Given the description of an element on the screen output the (x, y) to click on. 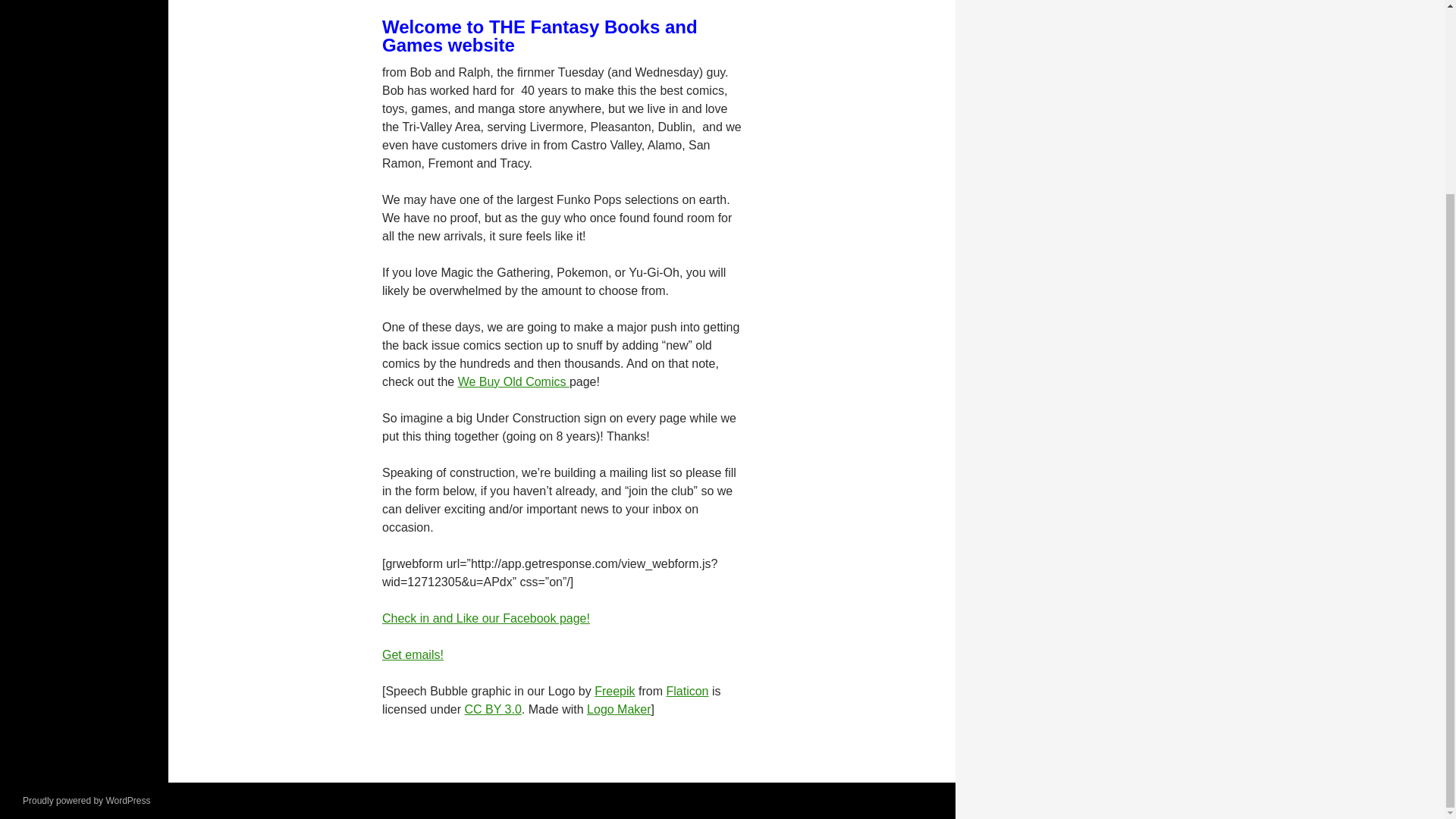
Creative Commons BY 3.0 (492, 708)
Logo Maker (618, 708)
Logo Maker (618, 708)
Get emails! (412, 654)
ur Facebook page! (539, 617)
Check in and Like o (435, 617)
Freepik (614, 690)
CC BY 3.0 (492, 708)
Proudly powered by WordPress (87, 800)
We Buy Old Comics (513, 381)
Flaticon (686, 690)
